Given the description of an element on the screen output the (x, y) to click on. 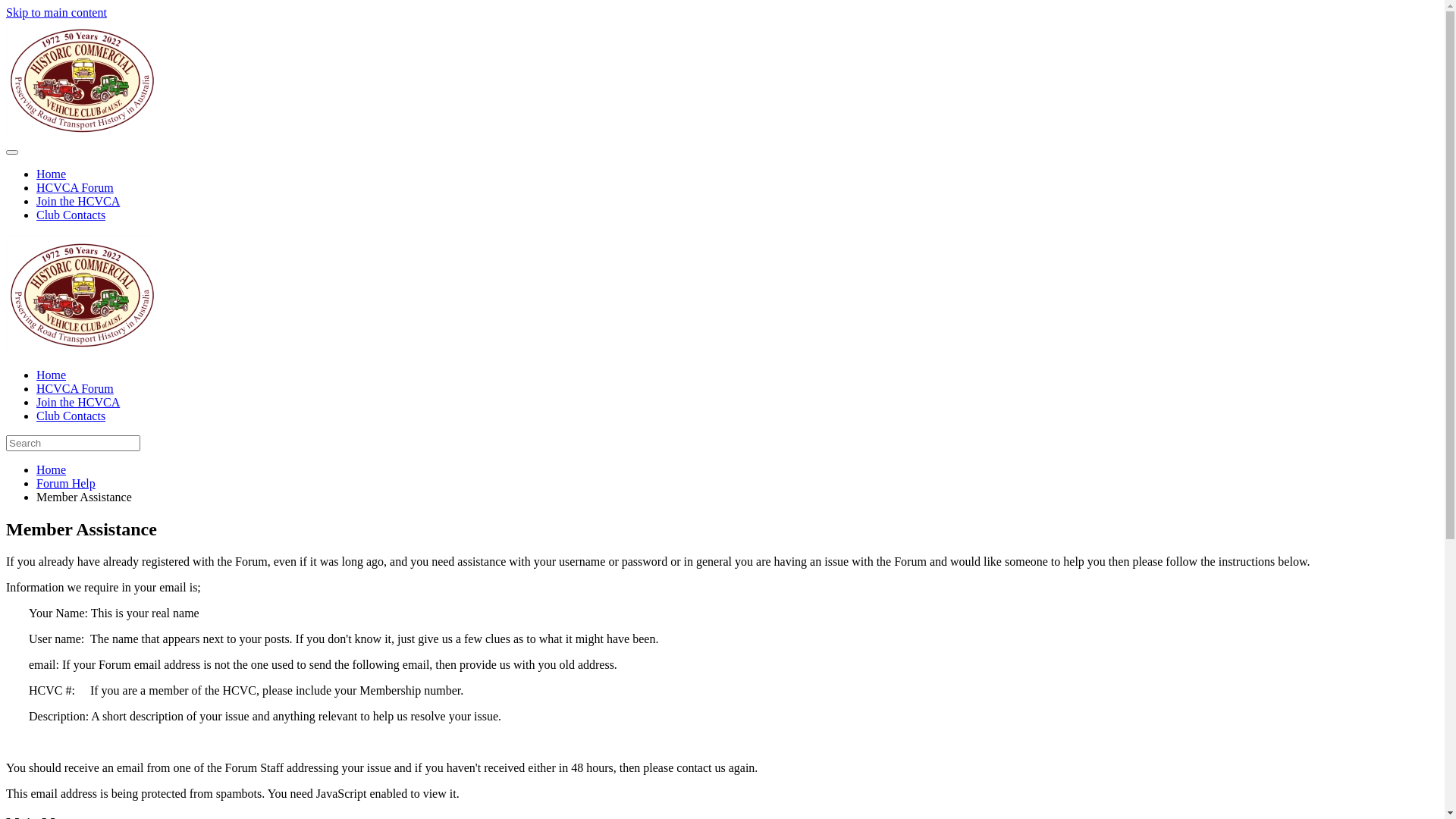
Club Contacts Element type: text (70, 214)
Home Element type: text (50, 374)
HCVCA Forum Element type: text (74, 388)
Join the HCVCA Element type: text (77, 200)
Join the HCVCA Element type: text (77, 401)
Home Element type: text (50, 469)
Club Contacts Element type: text (70, 415)
Forum Help Element type: text (65, 482)
HCVCA Forum Element type: text (74, 187)
Skip to main content Element type: text (56, 12)
Home Element type: text (50, 173)
